Given the description of an element on the screen output the (x, y) to click on. 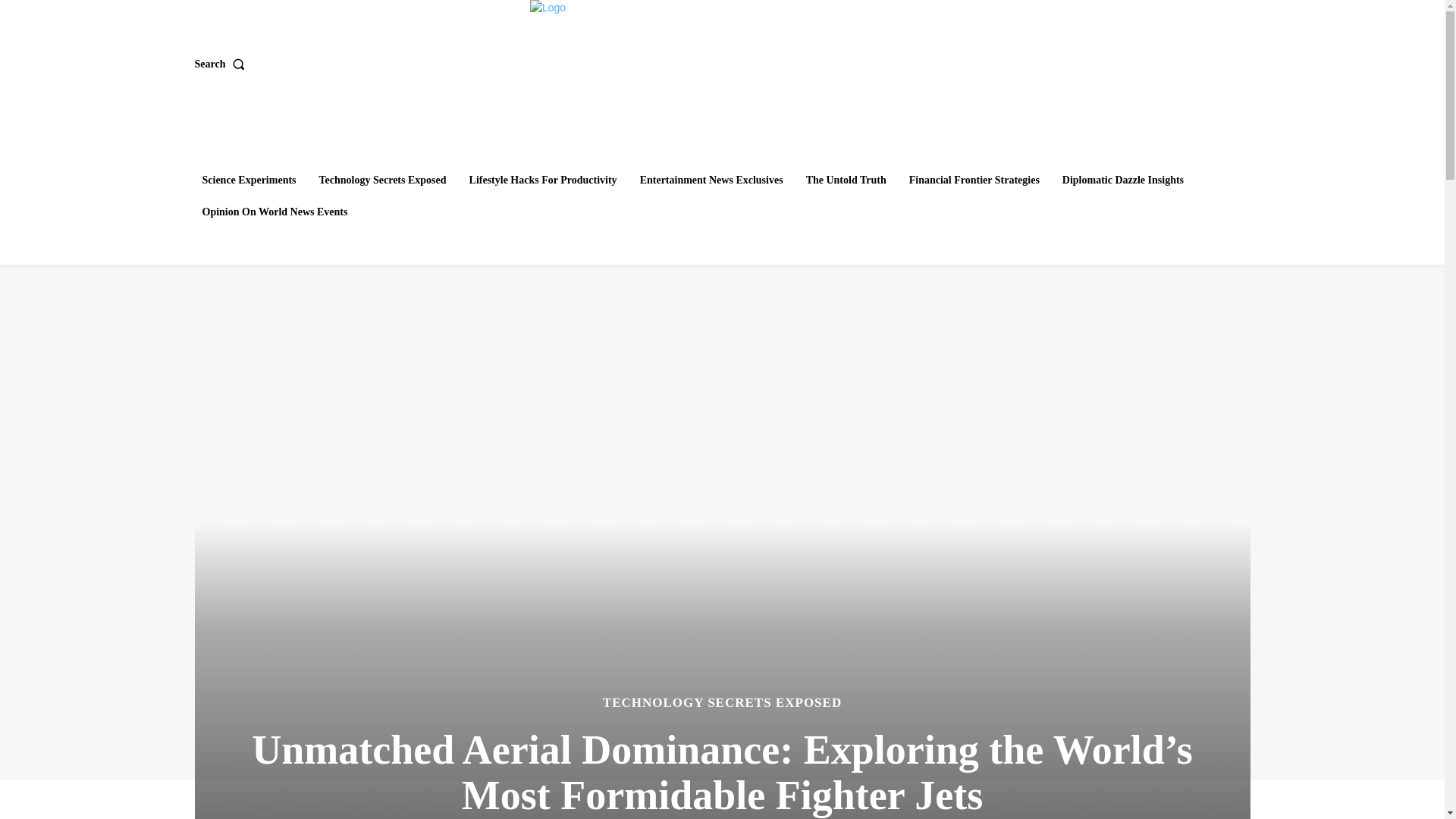
TECHNOLOGY SECRETS EXPOSED (721, 702)
Lifestyle Hacks For Productivity (542, 180)
The Untold Truth (845, 180)
Diplomatic Dazzle Insights (1122, 180)
Financial Frontier Strategies (973, 180)
Science Experiments (247, 180)
Entertainment News Exclusives (710, 180)
Opinion On World News Events (274, 212)
Search (221, 64)
Technology Secrets Exposed (382, 180)
